Given the description of an element on the screen output the (x, y) to click on. 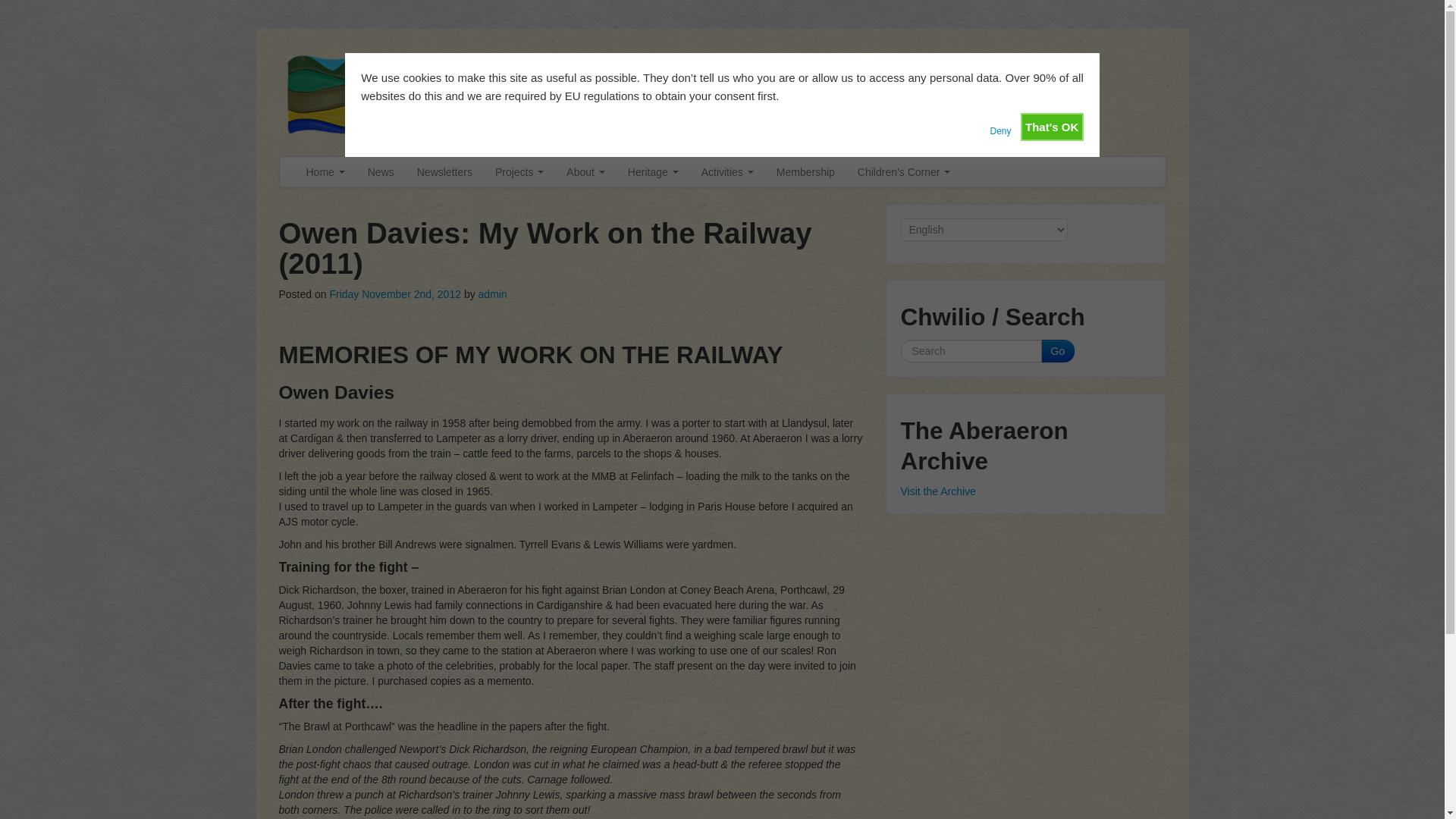
About (584, 172)
Skip to primary content (333, 163)
About (584, 172)
Deny (1000, 126)
Cymdeithas Aberaeron Society (722, 94)
That's OK (1051, 126)
Newsletters (444, 172)
admin (492, 294)
Activities (727, 172)
Home (324, 172)
Skip to secondary content (340, 163)
Projects (518, 172)
News (381, 172)
Home (324, 172)
Membership (805, 172)
